Given the description of an element on the screen output the (x, y) to click on. 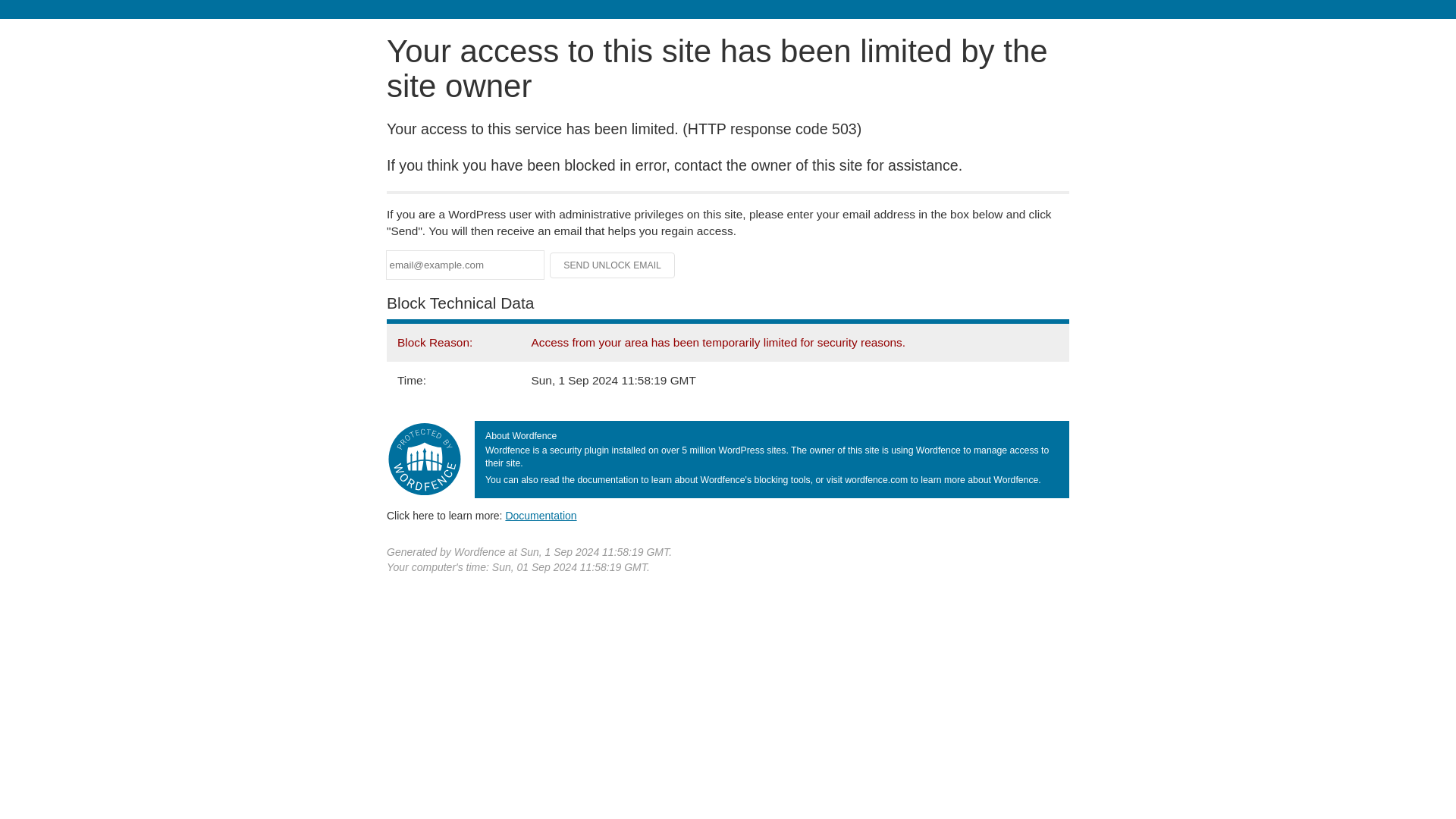
Send Unlock Email (612, 265)
Documentation (540, 515)
Send Unlock Email (612, 265)
